Given the description of an element on the screen output the (x, y) to click on. 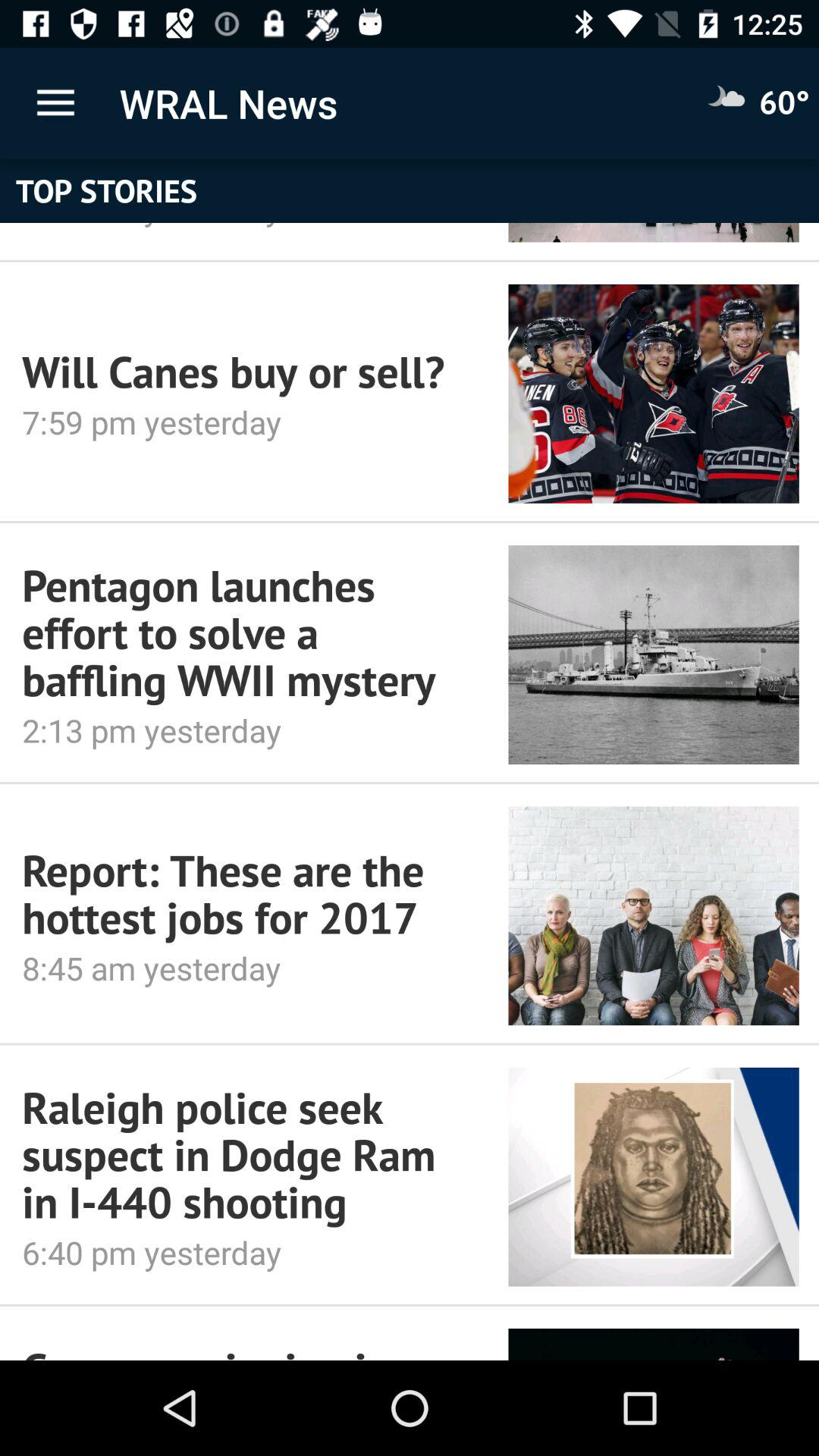
select item next to the wral news app (55, 103)
